Given the description of an element on the screen output the (x, y) to click on. 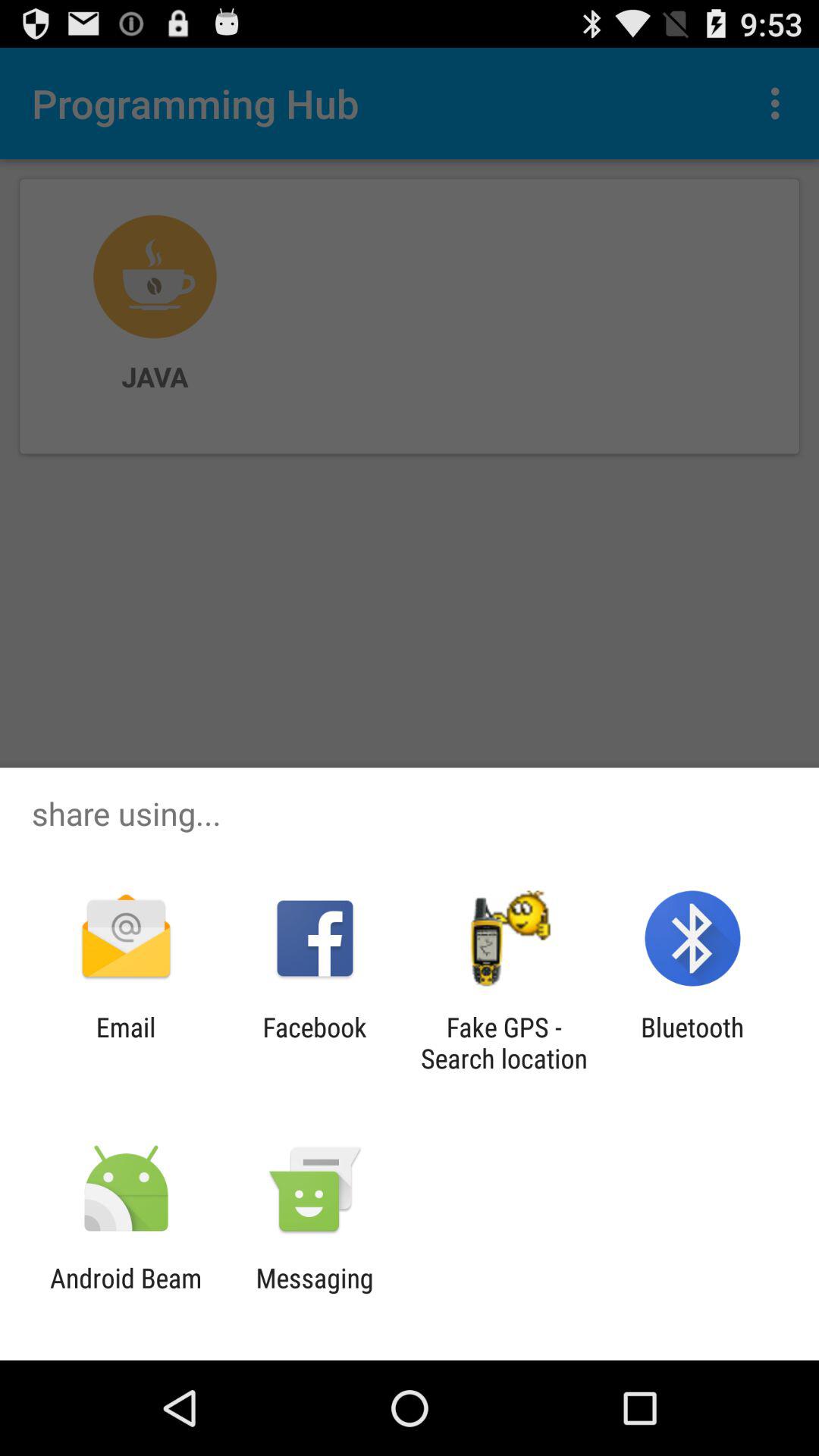
swipe to bluetooth app (691, 1042)
